Given the description of an element on the screen output the (x, y) to click on. 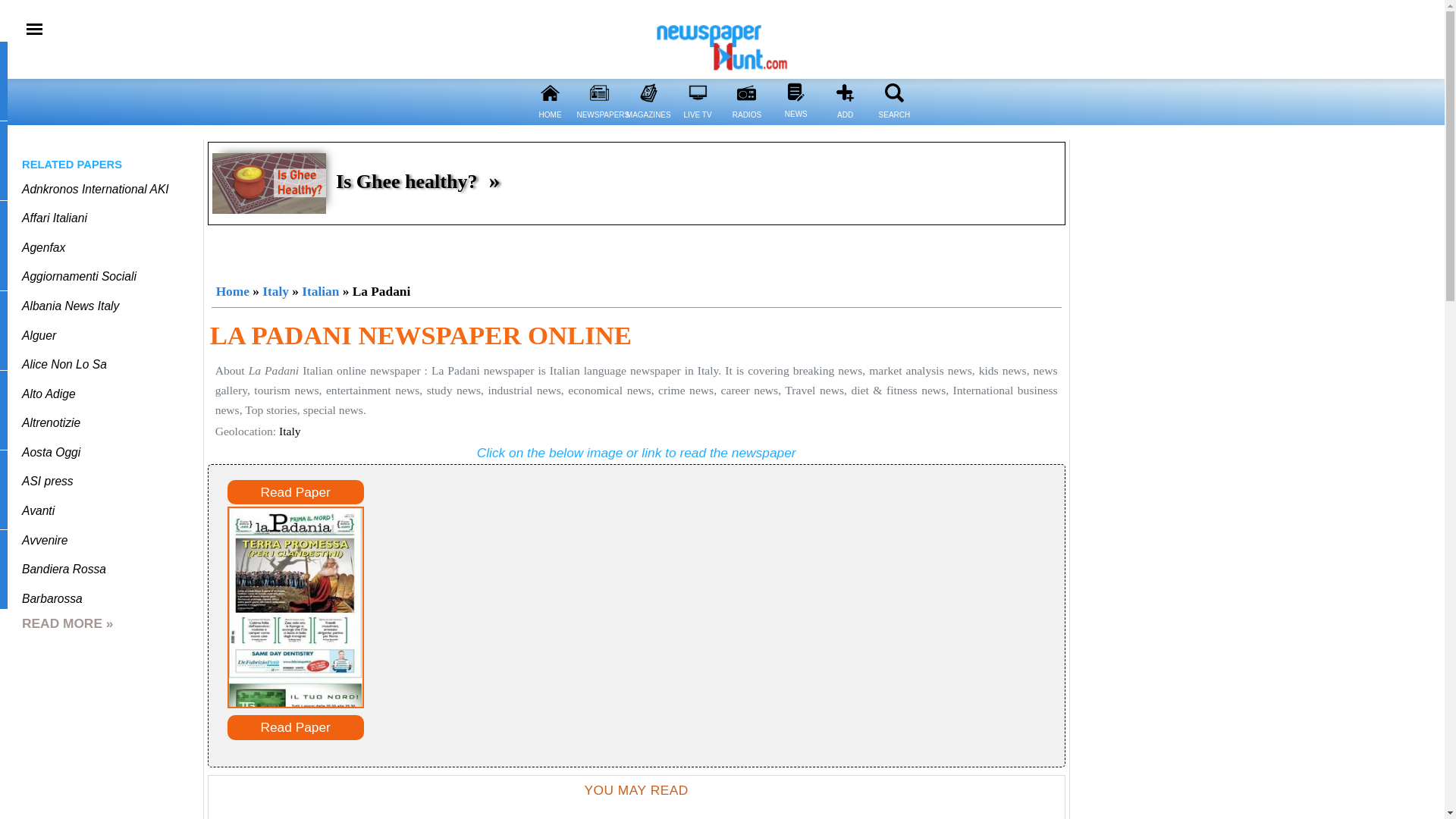
Aggiornamenti Sociali (78, 276)
Alguer (38, 335)
Albania News Italy (70, 305)
MAGAZINES (648, 124)
Altrenotizie (50, 422)
NEWSPAPERS (598, 124)
RADIOS (745, 92)
NEWS (795, 123)
MAGAZINE (648, 92)
SEARCH (893, 124)
